Given the description of an element on the screen output the (x, y) to click on. 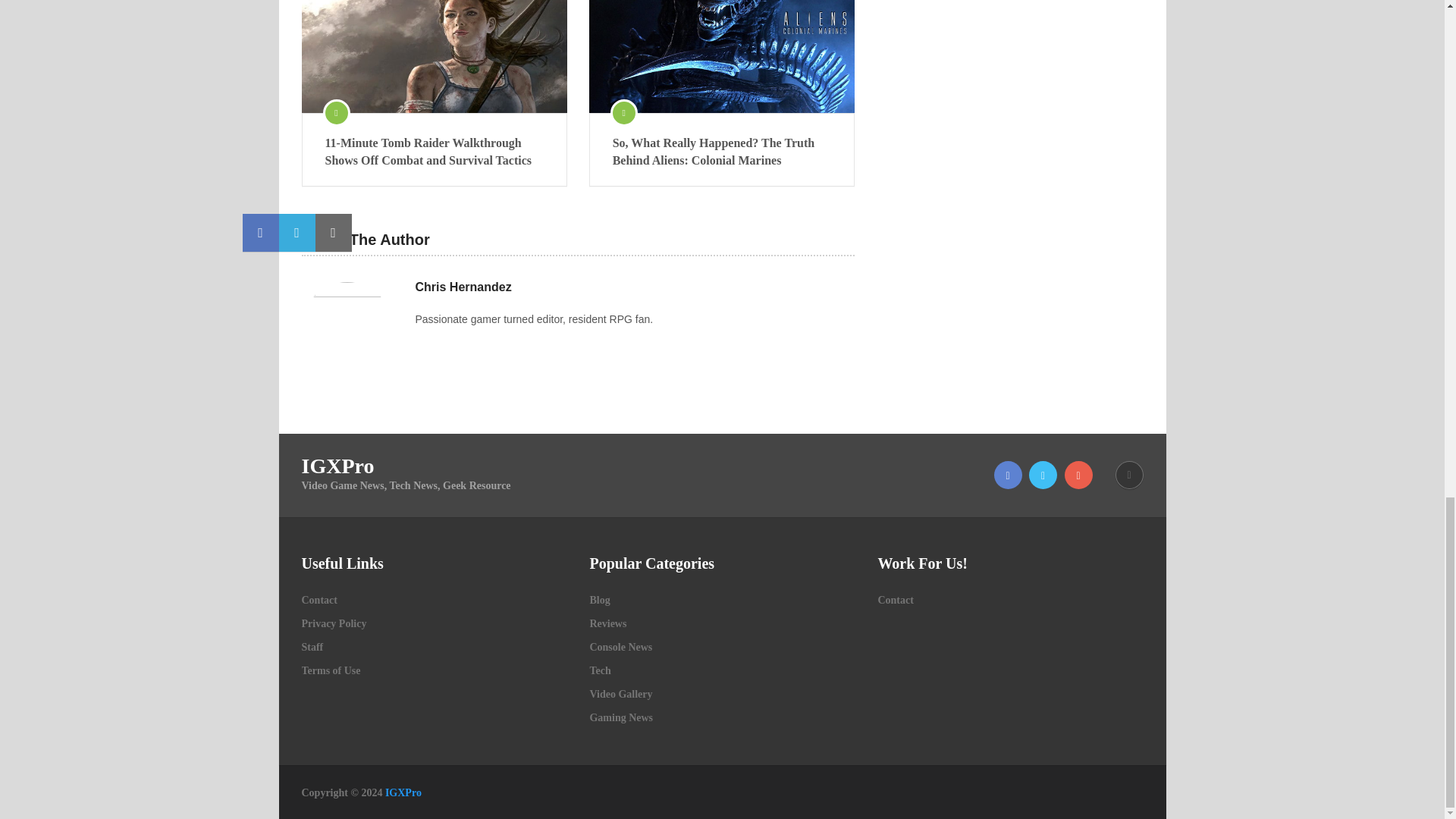
 Video Game News, Tech News, Geek Resource (403, 792)
